Given the description of an element on the screen output the (x, y) to click on. 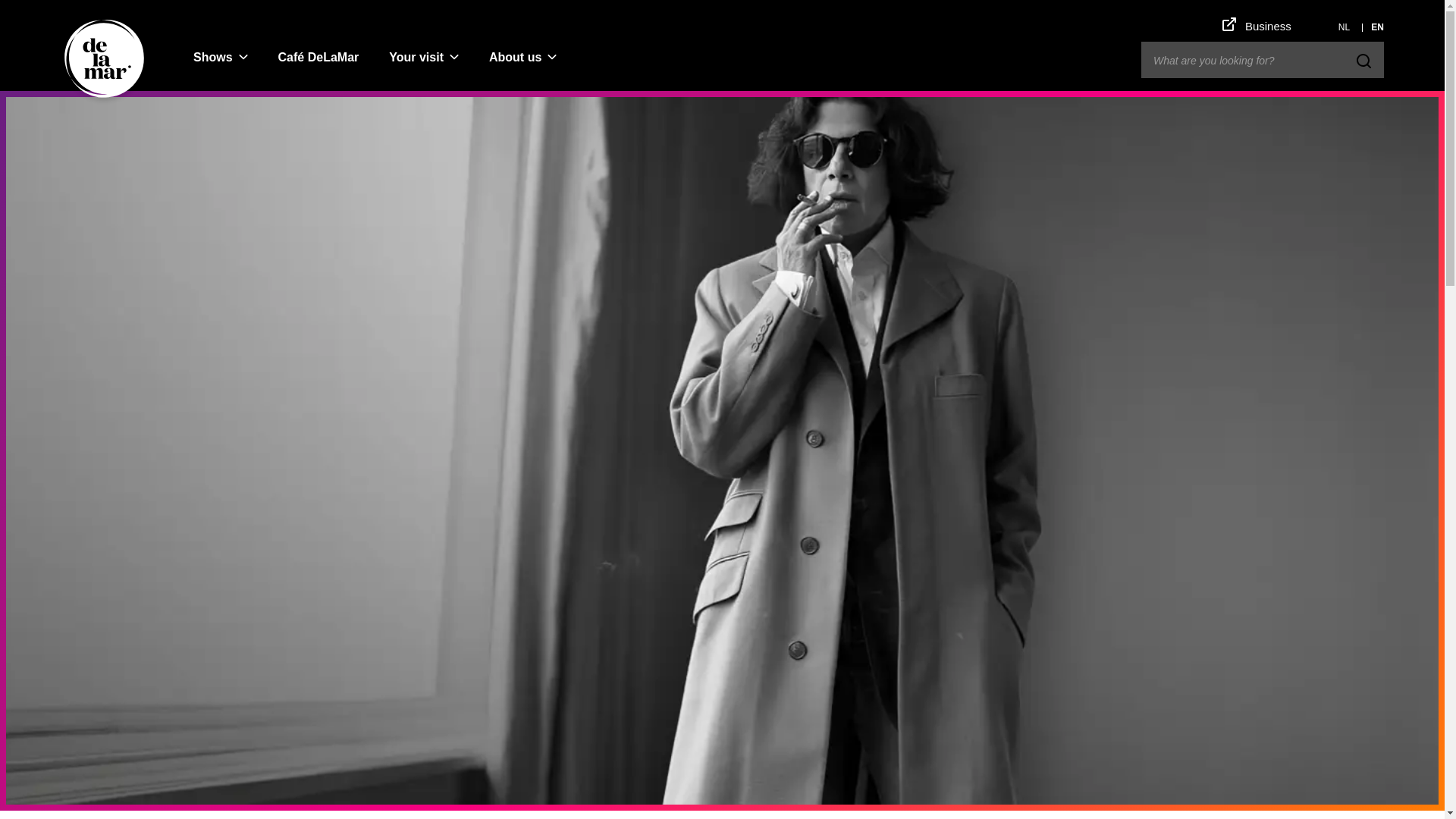
EN (1377, 26)
Shows (212, 57)
Your visit (416, 57)
About us (515, 57)
Business (1257, 26)
NL (1343, 26)
